Given the description of an element on the screen output the (x, y) to click on. 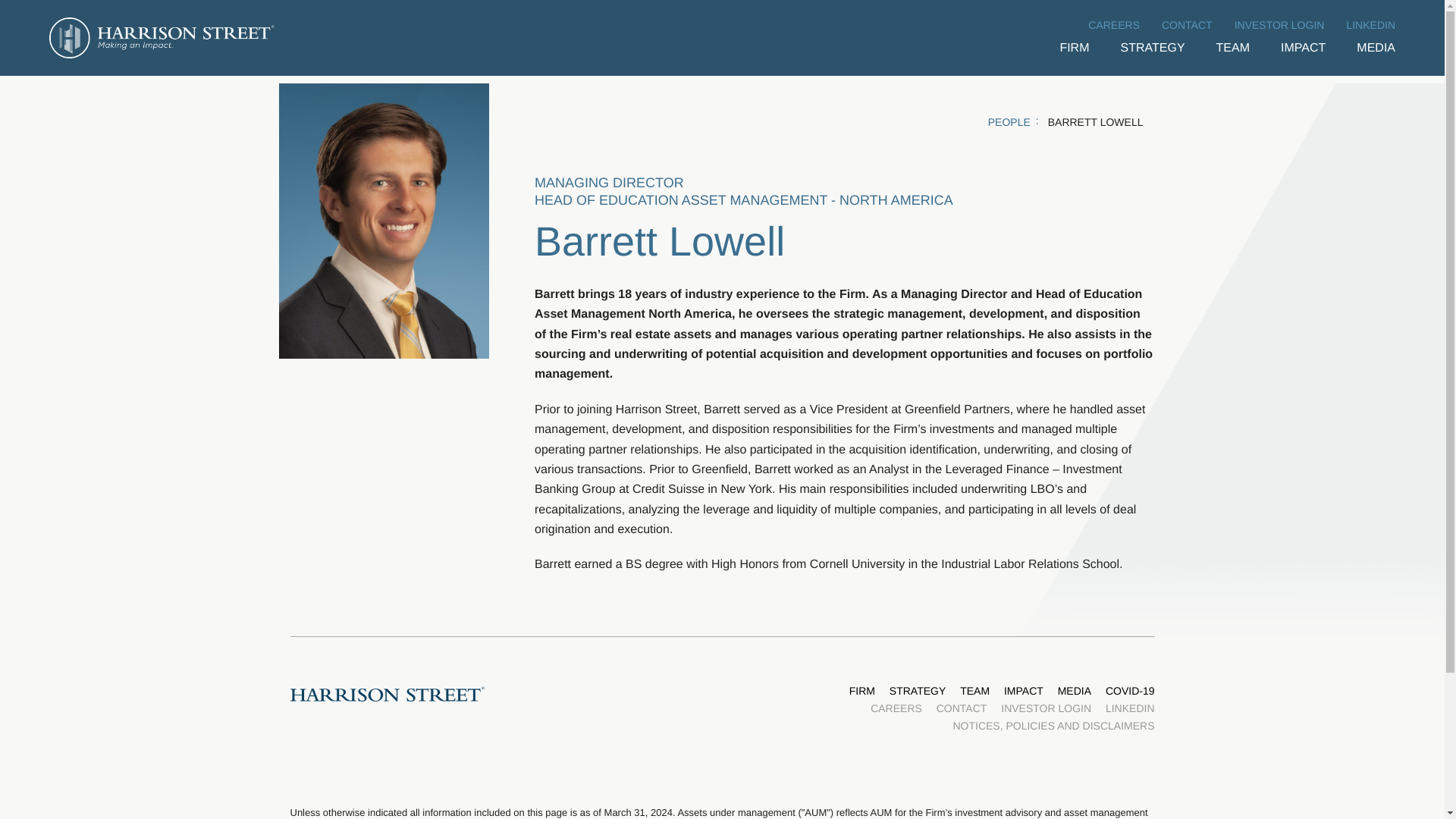
FIRM (861, 691)
PEOPLE (1015, 121)
Media (1375, 56)
Strategy (1153, 56)
Impact (1302, 56)
LINKEDIN (1129, 708)
CAREERS (1113, 20)
Contact (1186, 20)
TEAM (974, 691)
Careers (1113, 20)
IMPACT (1302, 56)
Investor Login (1279, 20)
Linkedin (1369, 20)
INVESTOR LOGIN (1279, 20)
CAREERS (895, 708)
